Given the description of an element on the screen output the (x, y) to click on. 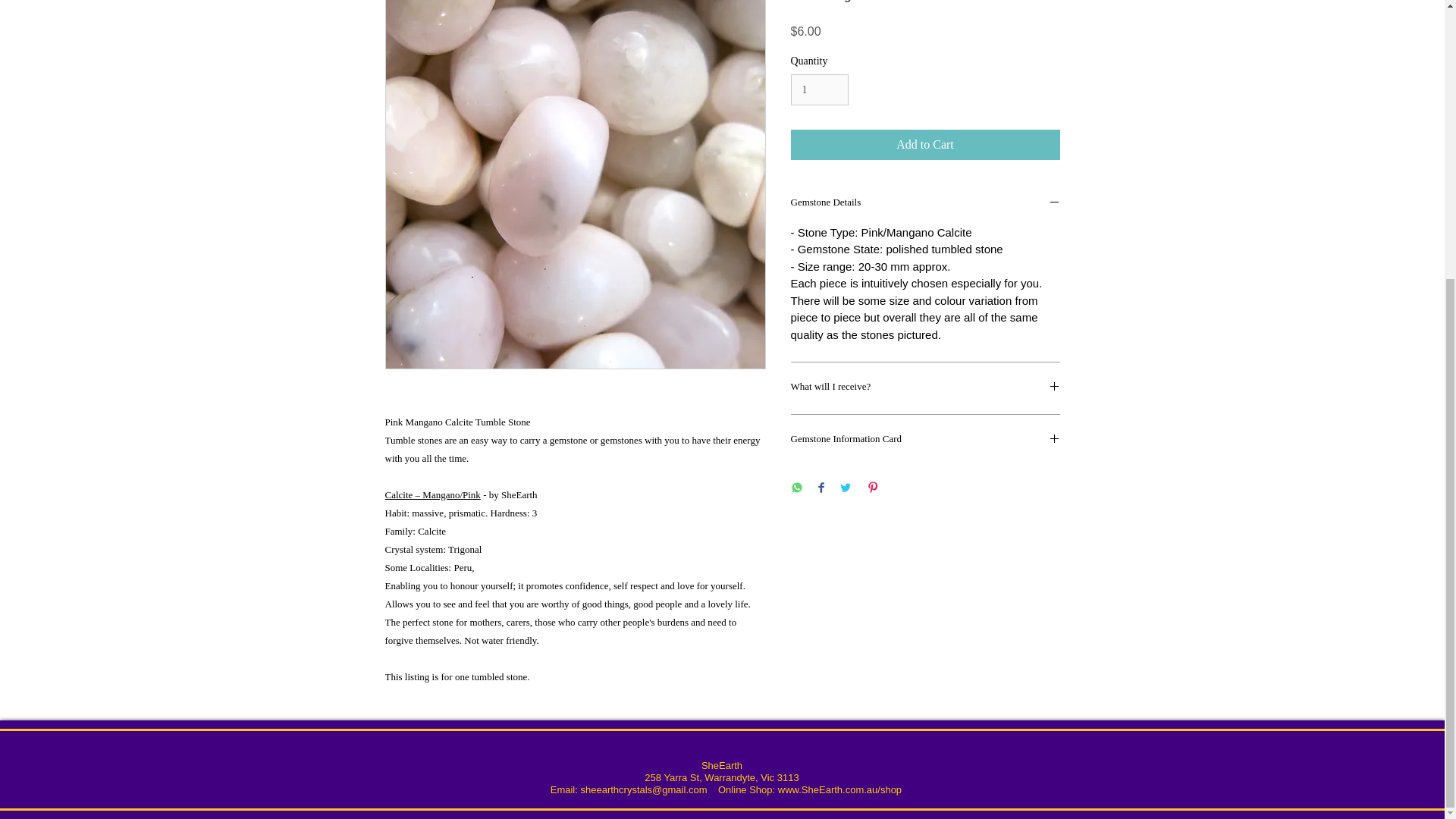
Gemstone Details (924, 203)
Gemstone Information Card (924, 440)
Add to Cart (924, 144)
1 (818, 89)
What will I receive? (924, 387)
